Given the description of an element on the screen output the (x, y) to click on. 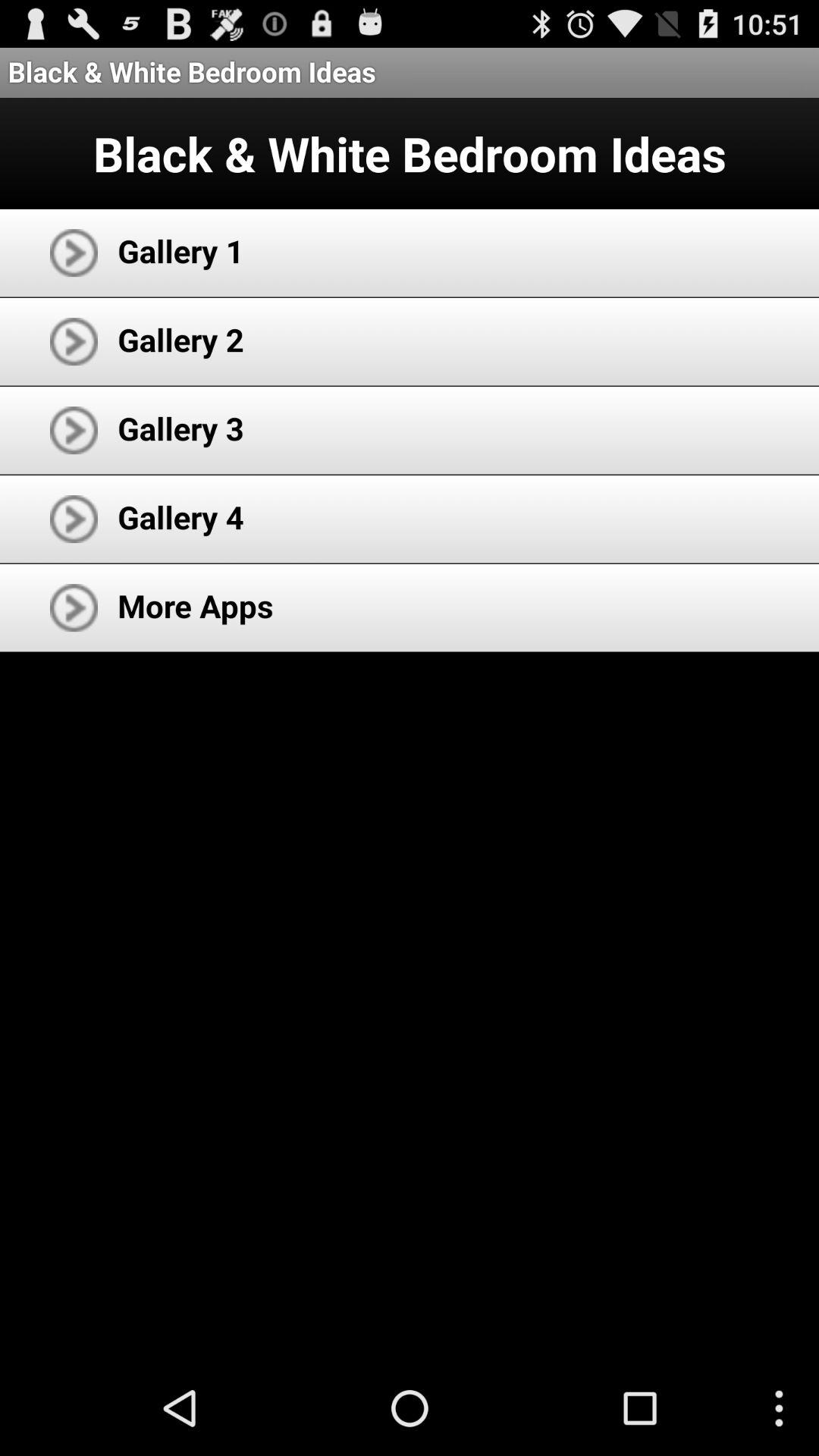
open the gallery 3 (180, 427)
